Given the description of an element on the screen output the (x, y) to click on. 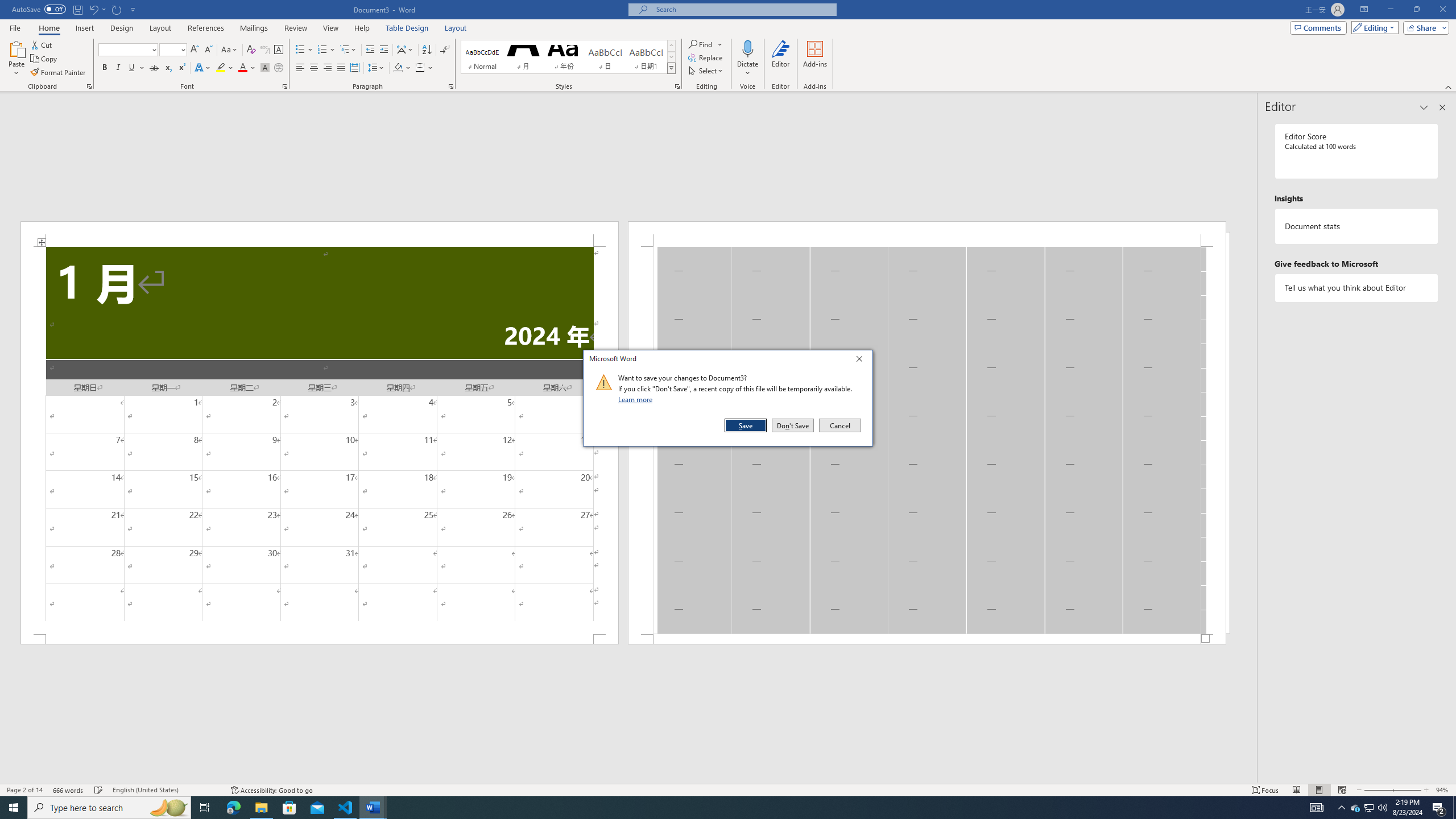
Tell us what you think about Editor (1356, 288)
